Given the description of an element on the screen output the (x, y) to click on. 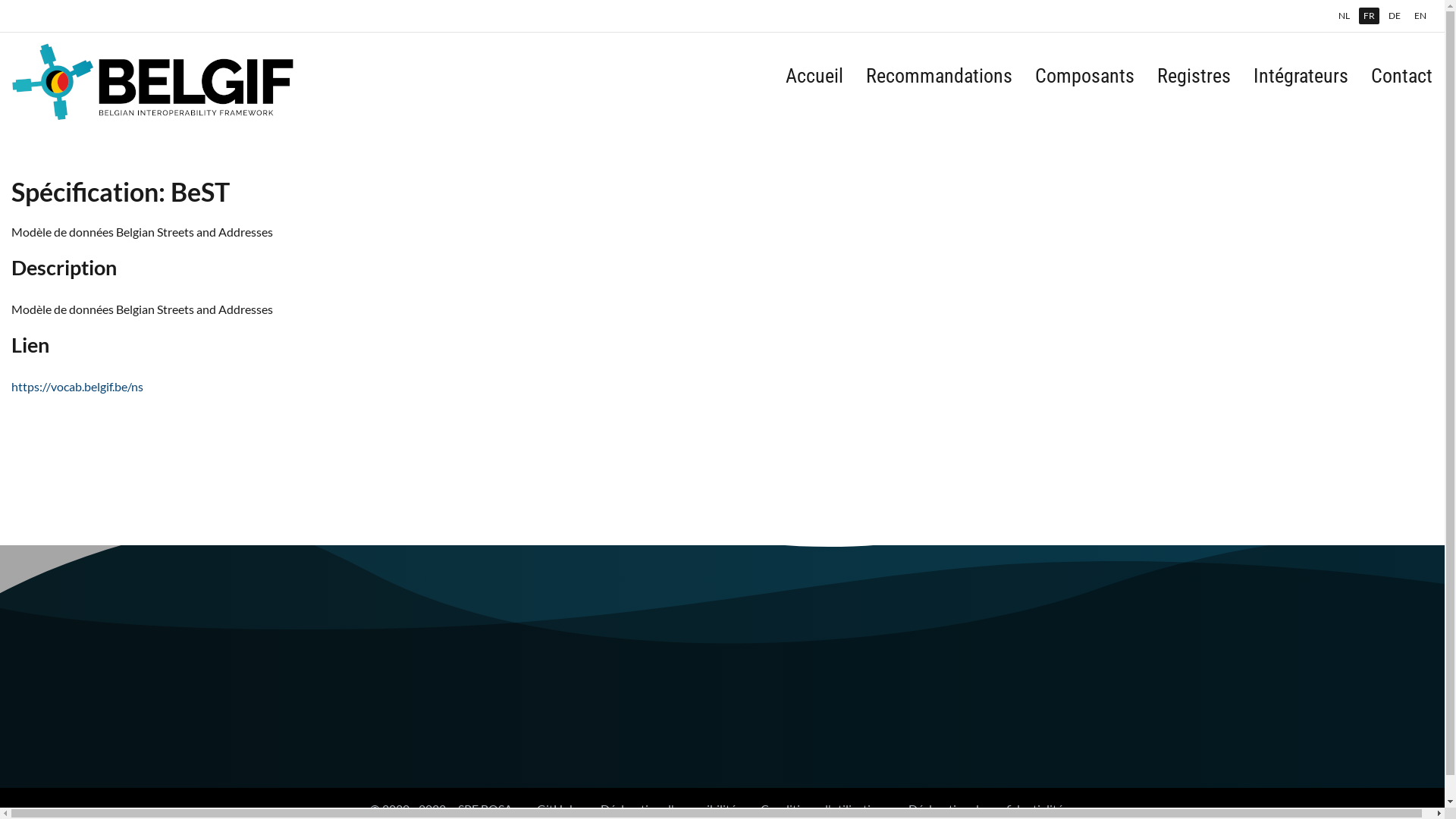
Registres Element type: text (1193, 81)
https://vocab.belgif.be/ns Element type: text (77, 386)
DE Element type: text (1394, 15)
Contact Element type: text (1401, 81)
Composants Element type: text (1084, 81)
Recommandations Element type: text (939, 81)
EN Element type: text (1419, 15)
FR Element type: text (1368, 15)
NL Element type: text (1343, 15)
Accueil Element type: text (814, 81)
